Given the description of an element on the screen output the (x, y) to click on. 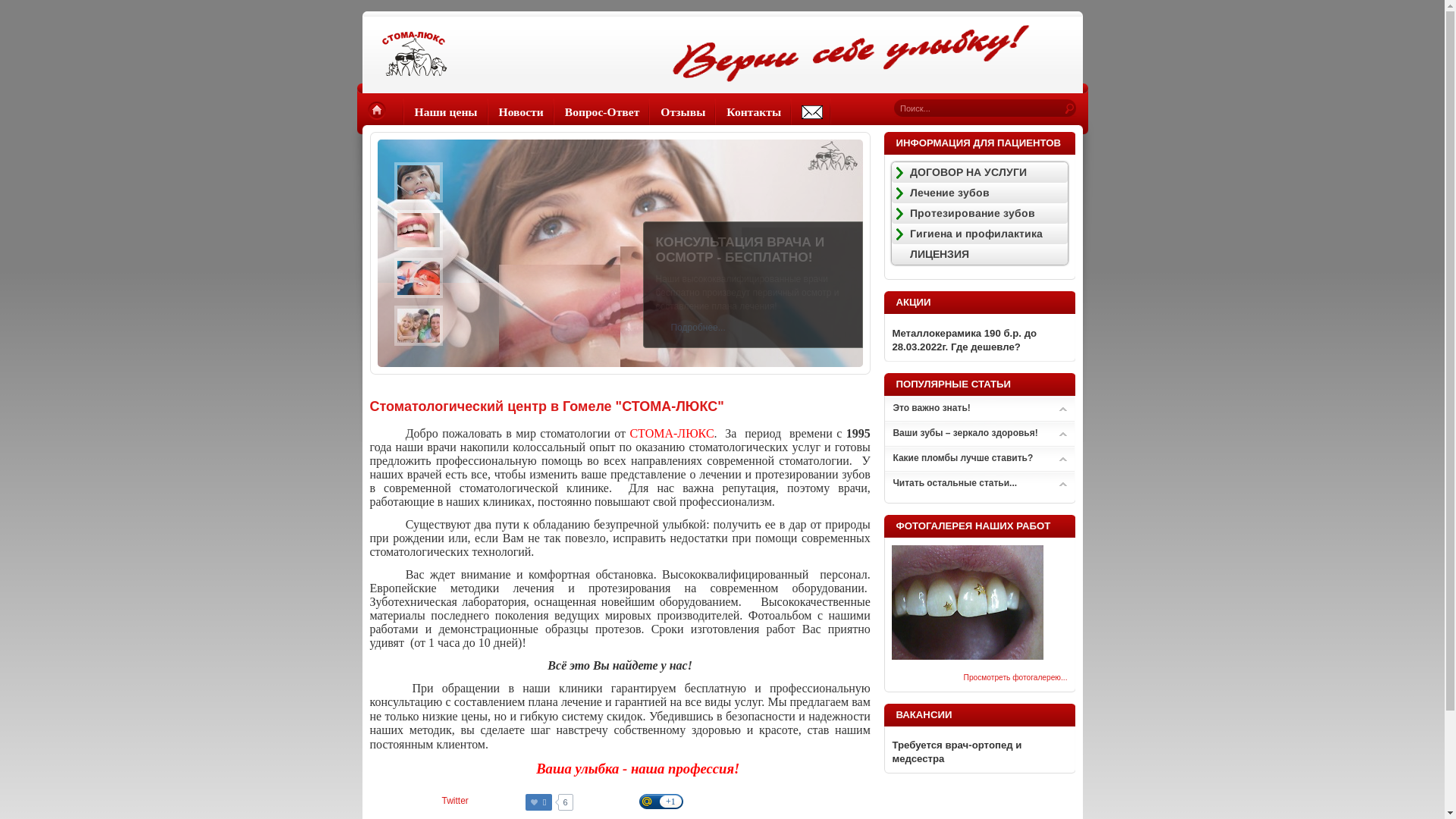
_.._ Element type: text (810, 111)
10 Element type: hover (967, 656)
Twitter Element type: text (454, 800)
